Given the description of an element on the screen output the (x, y) to click on. 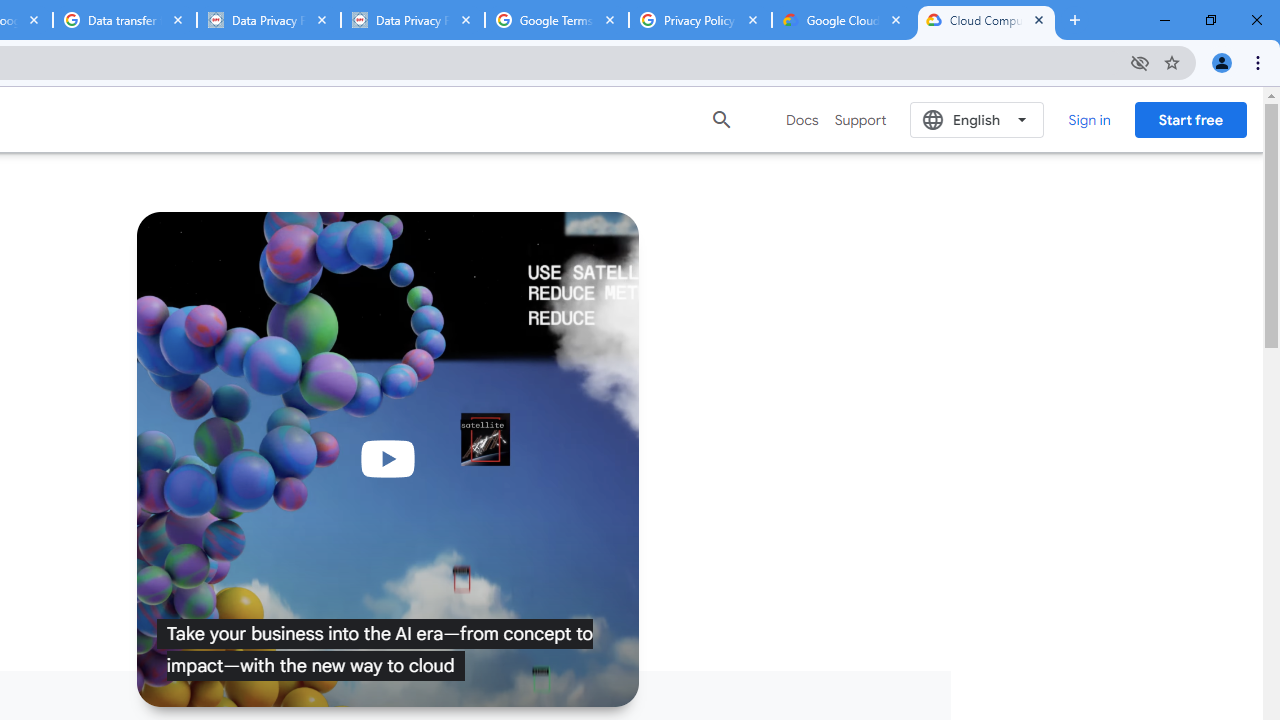
Support (860, 119)
Docs (802, 119)
Start free (1190, 119)
Google Cloud Privacy Notice (843, 20)
Data Privacy Framework (268, 20)
